Given the description of an element on the screen output the (x, y) to click on. 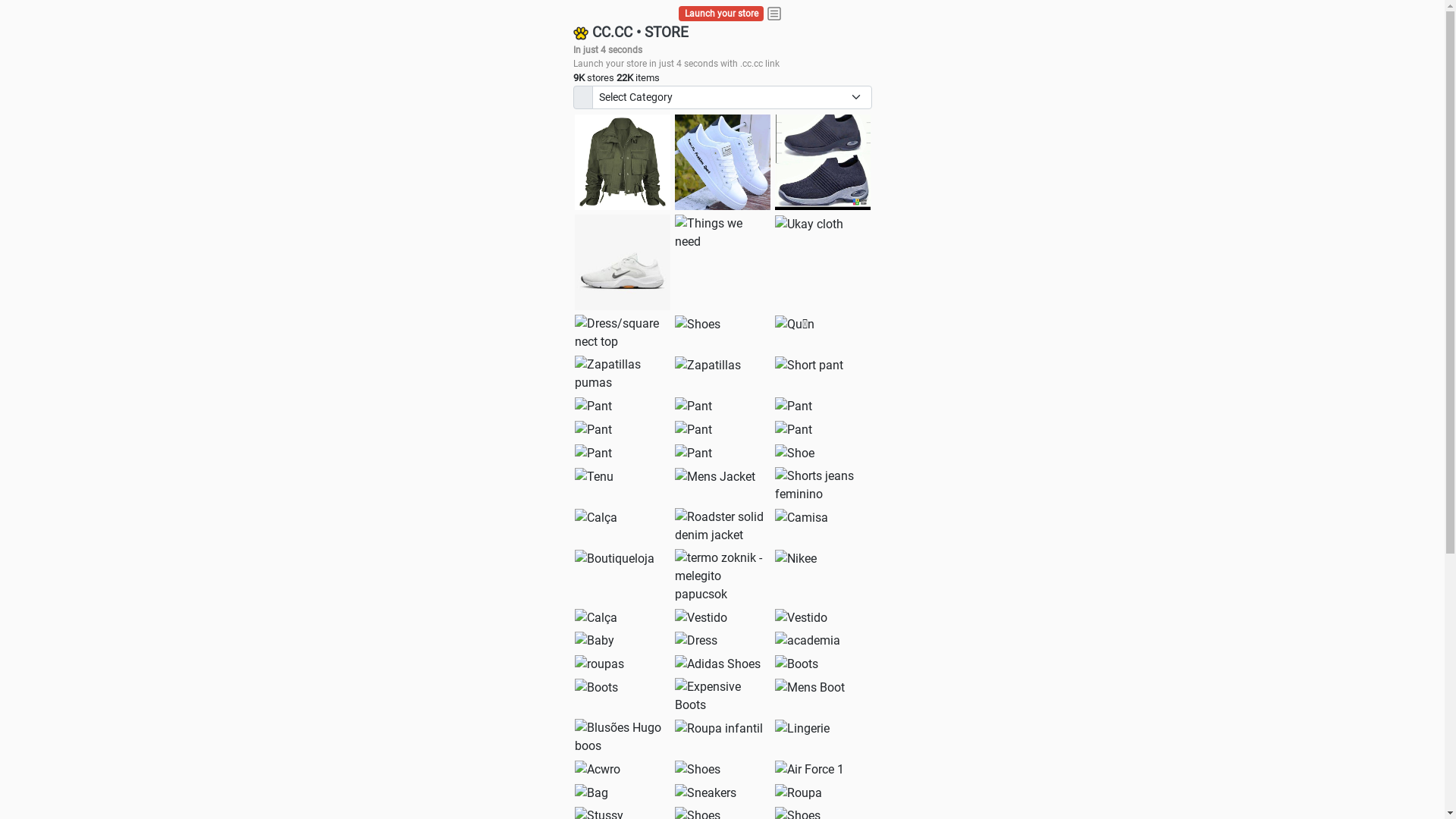
Vestido Element type: hover (801, 617)
Zapatillas pumas Element type: hover (622, 373)
Shoes Element type: hover (697, 324)
Pant Element type: hover (592, 406)
Mens Boot Element type: hover (809, 687)
Mens Jacket Element type: hover (714, 476)
Shoe Element type: hover (794, 453)
Baby Element type: hover (594, 640)
Things we need Element type: hover (722, 232)
Pant Element type: hover (793, 429)
Roupa Element type: hover (798, 793)
Pant Element type: hover (693, 453)
Shorts jeans feminino Element type: hover (822, 485)
Roupa infantil Element type: hover (718, 728)
Sneakers Element type: hover (705, 793)
Zapatillas Element type: hover (707, 365)
Pant Element type: hover (592, 453)
Dress/square nect top Element type: hover (622, 332)
Dress Element type: hover (695, 640)
Launch your store Element type: text (721, 13)
white shoes Element type: hover (722, 162)
Camisa Element type: hover (801, 517)
Expensive Boots Element type: hover (722, 695)
Pant Element type: hover (793, 406)
Shoes for boys Element type: hover (622, 262)
Acwro Element type: hover (597, 769)
academia Element type: hover (807, 640)
Boutiqueloja Element type: hover (614, 558)
shoes for boys Element type: hover (822, 162)
Air Force 1 Element type: hover (809, 769)
roupas Element type: hover (599, 664)
Ukay cloth Element type: hover (809, 224)
Pant Element type: hover (693, 406)
Adidas Shoes Element type: hover (717, 664)
Shoes Element type: hover (697, 769)
Short pant Element type: hover (809, 365)
Boots Element type: hover (796, 664)
Lingerie Element type: hover (802, 728)
Tenu Element type: hover (593, 476)
Nikee Element type: hover (795, 558)
Boots Element type: hover (596, 687)
Vestido Element type: hover (700, 617)
Roadster solid denim jacket Element type: hover (722, 526)
Bag Element type: hover (591, 793)
termo zoknik - melegito papucsok Element type: hover (722, 576)
Pant Element type: hover (592, 429)
jacket Element type: hover (622, 162)
Pant Element type: hover (693, 429)
